Given the description of an element on the screen output the (x, y) to click on. 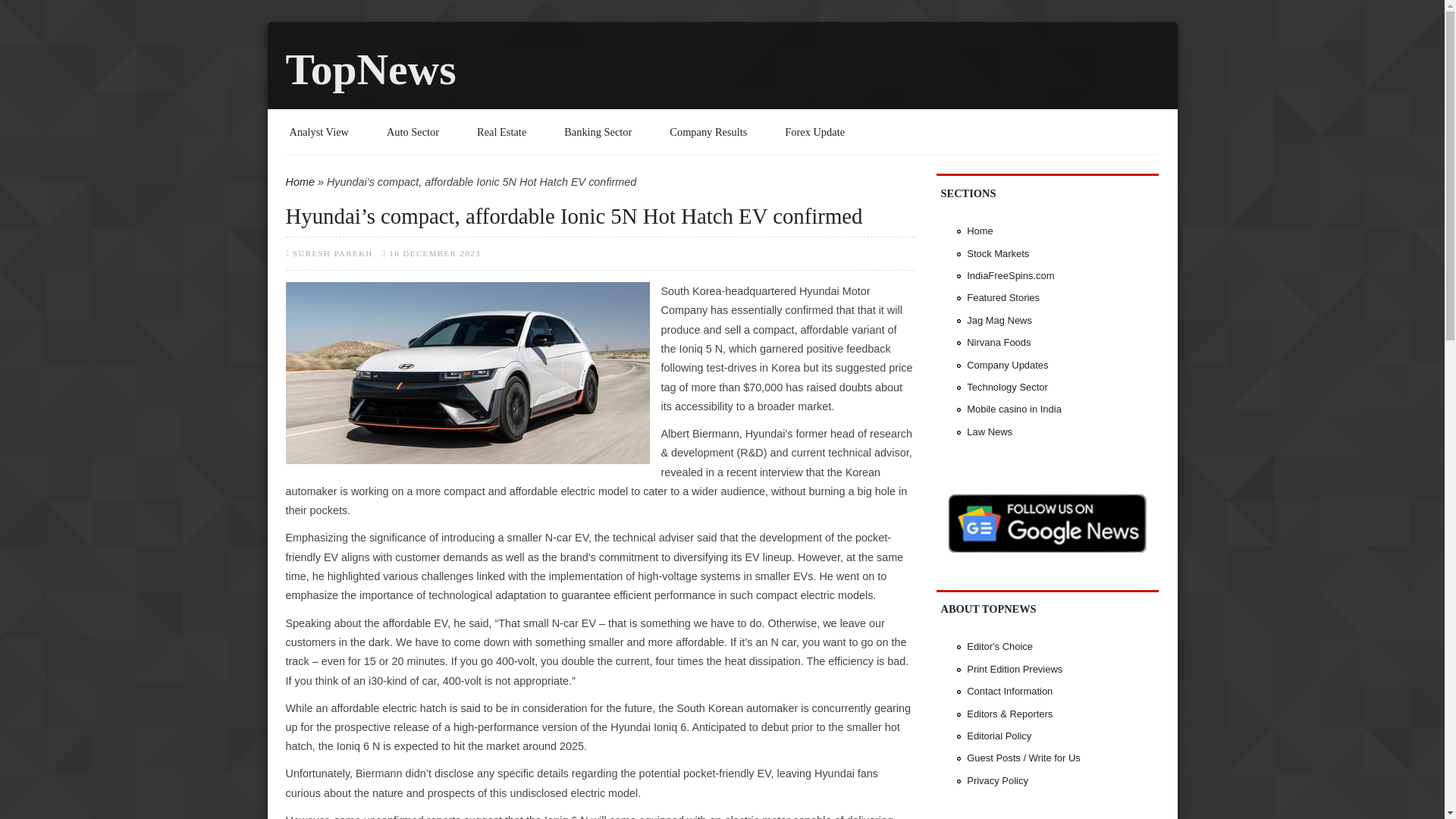
Real Estate (501, 132)
Company Updates TopNews (1007, 365)
TopNews (979, 230)
Nirvana Foods (998, 342)
Jag Mag News (999, 319)
Home (979, 230)
Forex Update (814, 132)
Privacy Policy (996, 780)
Banking Sector (597, 132)
Stock Markets (997, 253)
